Given the description of an element on the screen output the (x, y) to click on. 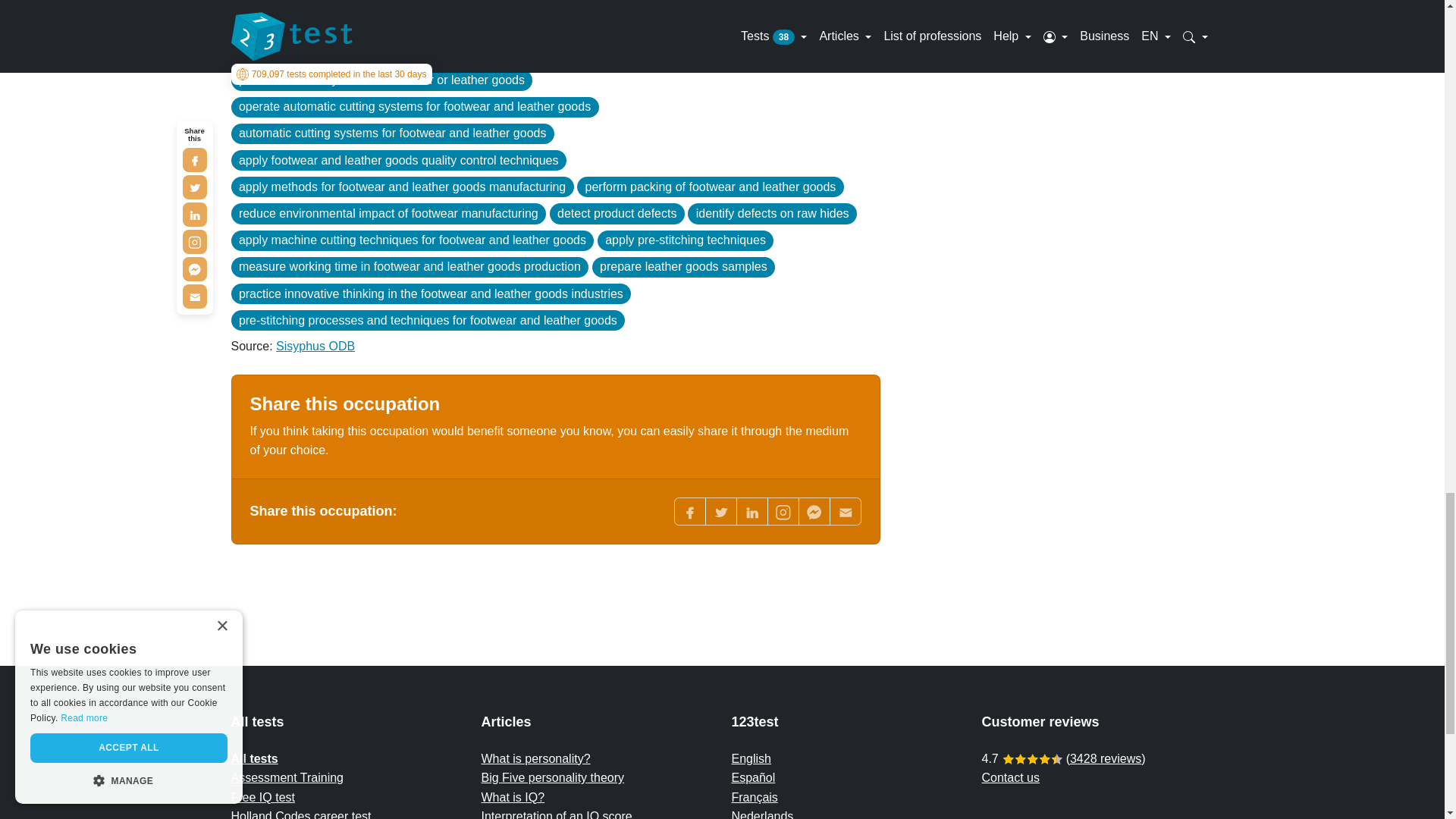
Sisyphus ODB (315, 345)
 Twitter (720, 511)
 LinkedIn (751, 511)
 Facebook (688, 511)
Instagram (783, 511)
